Given the description of an element on the screen output the (x, y) to click on. 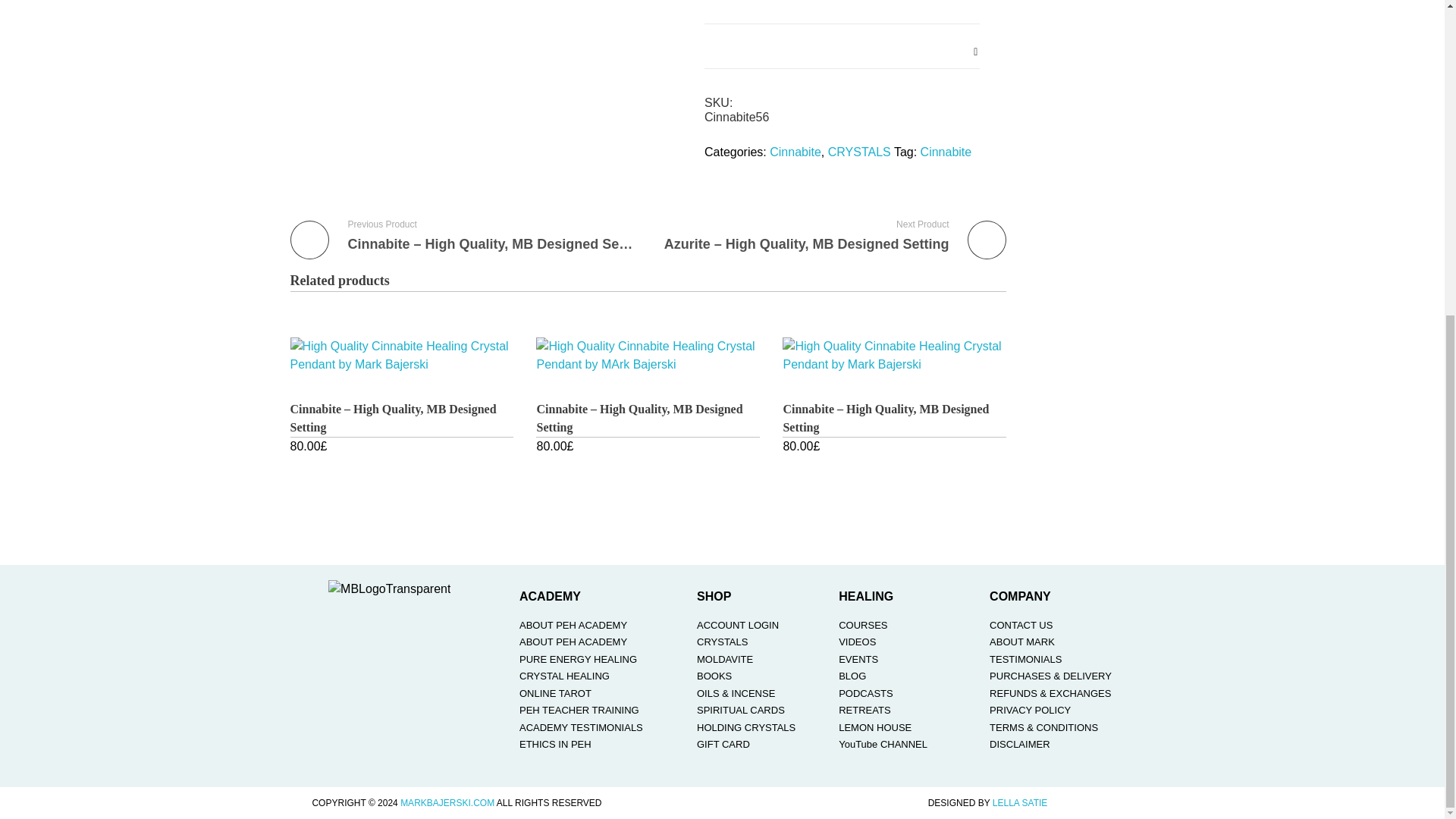
Cinnabite (795, 151)
MBLogoTransparent (389, 588)
Cinnabite (946, 151)
CRYSTALS (859, 151)
